Given the description of an element on the screen output the (x, y) to click on. 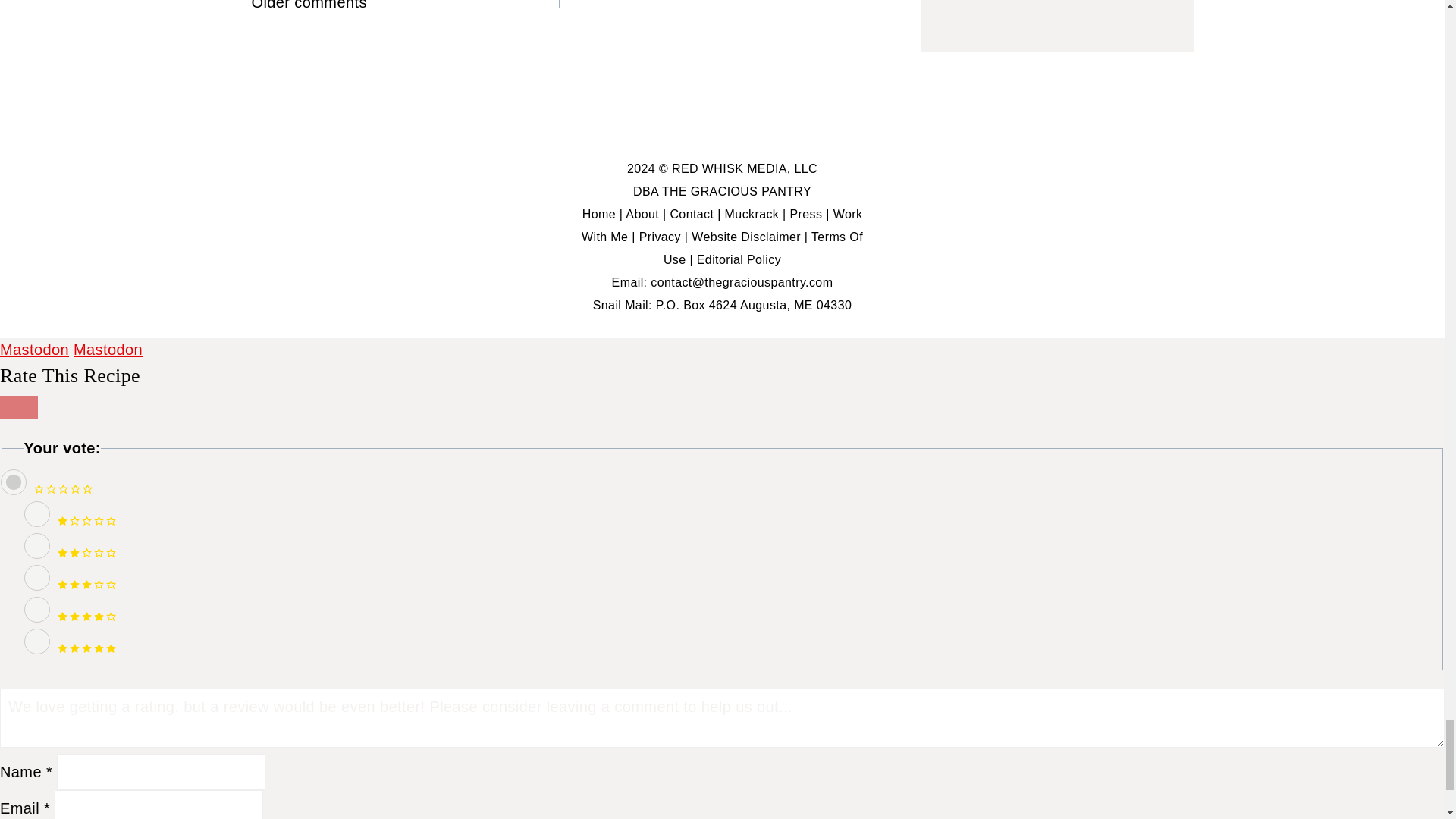
5 (36, 641)
3 (36, 577)
2 (36, 545)
0 (13, 482)
1 (36, 514)
4 (36, 609)
